Given the description of an element on the screen output the (x, y) to click on. 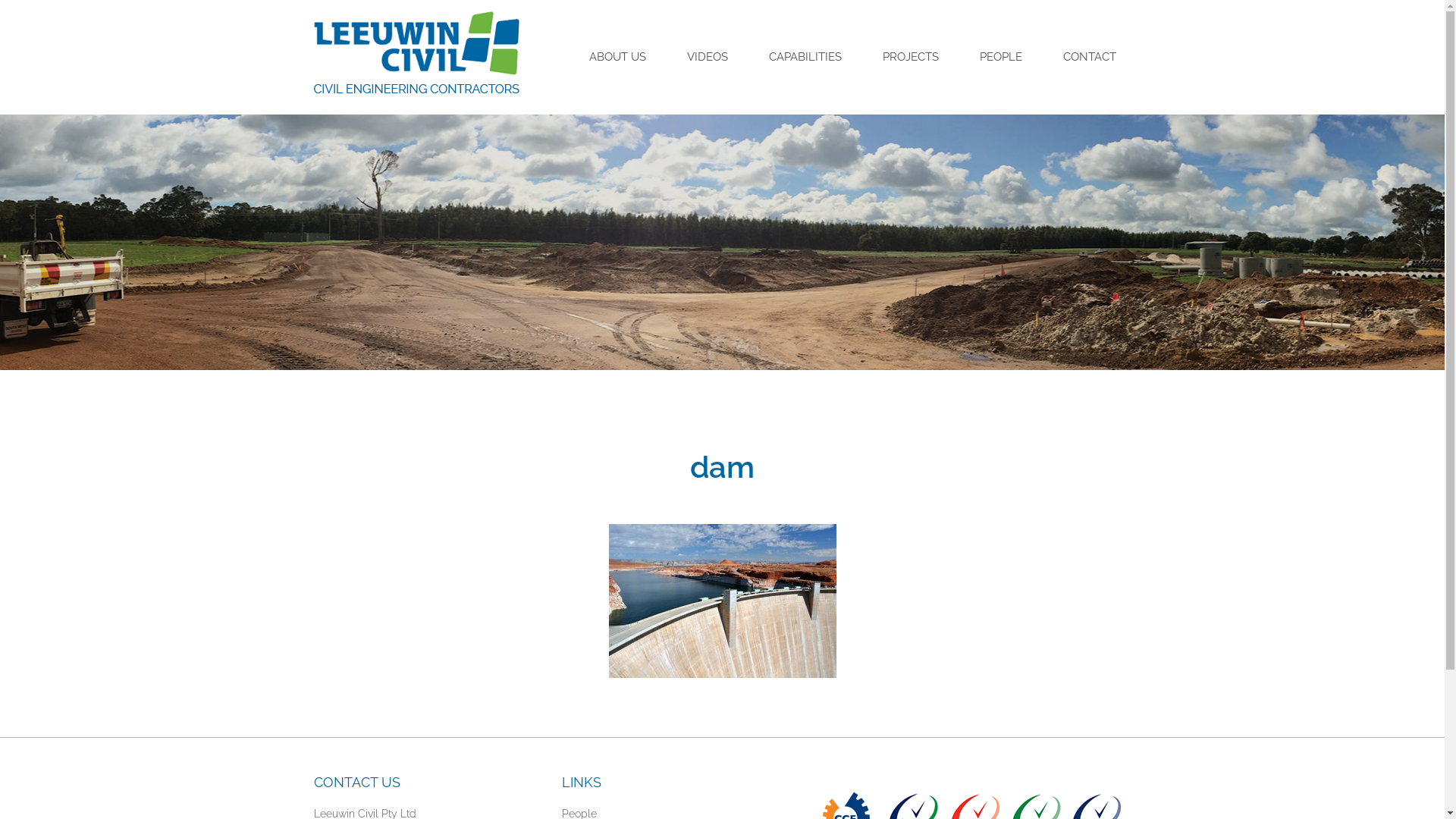
PEOPLE Element type: text (1000, 55)
ABOUT US Element type: text (617, 55)
PROJECTS Element type: text (910, 55)
VIDEOS Element type: text (707, 55)
CAPABILITIES Element type: text (804, 55)
CONTACT Element type: text (1089, 55)
